Given the description of an element on the screen output the (x, y) to click on. 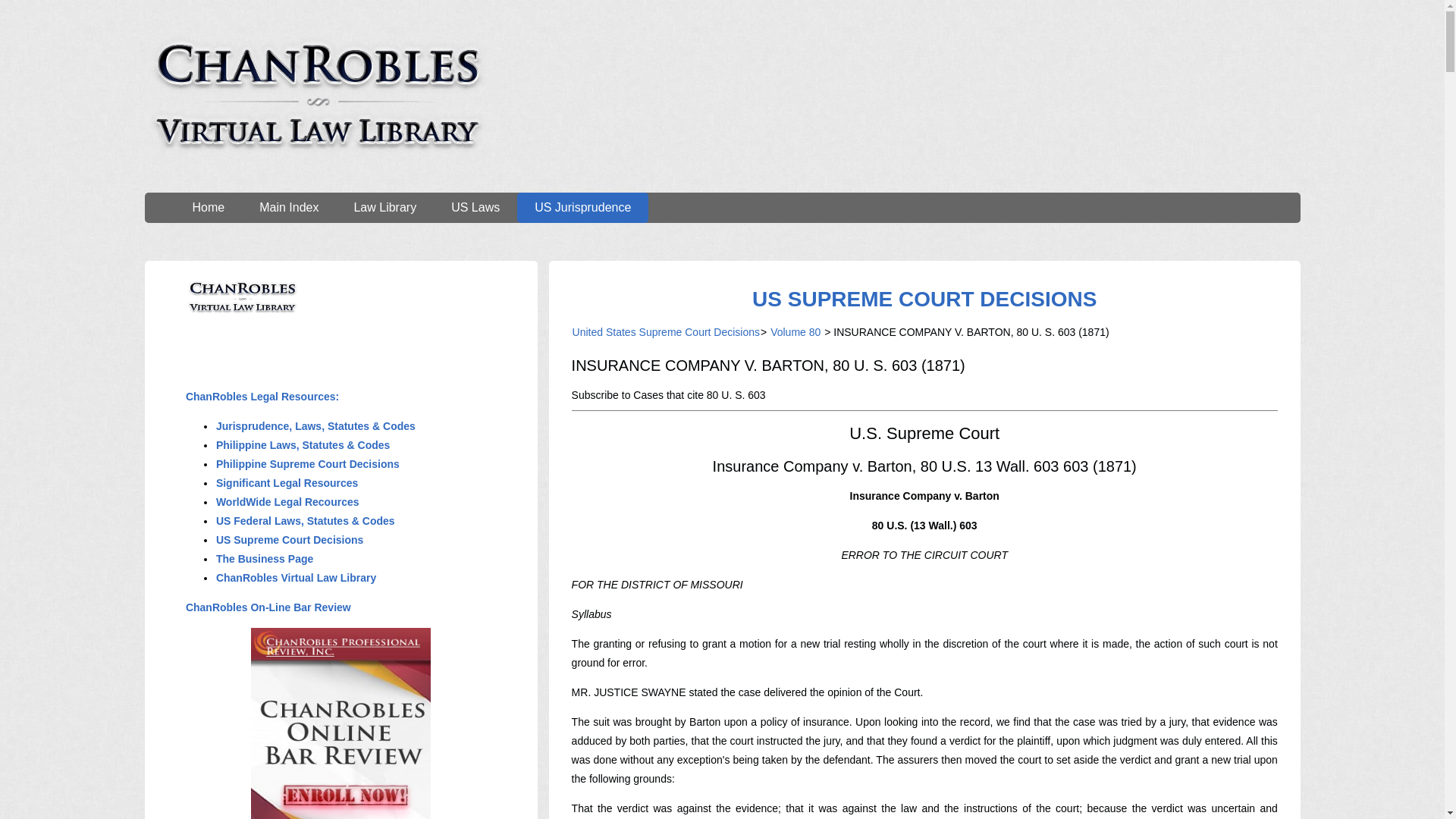
Significant Legal Resources (287, 482)
US Jurisprudence (581, 207)
US Supreme Court Decisions (290, 539)
US Laws (474, 207)
Philippine Supreme Court Decisions (307, 463)
The Business Page (264, 558)
Volume 80 (795, 331)
ChanRobles On-Line Bar Review (268, 607)
United States Supreme Court Decisions (666, 331)
ChanRobles Legal Resources: (261, 396)
